Given the description of an element on the screen output the (x, y) to click on. 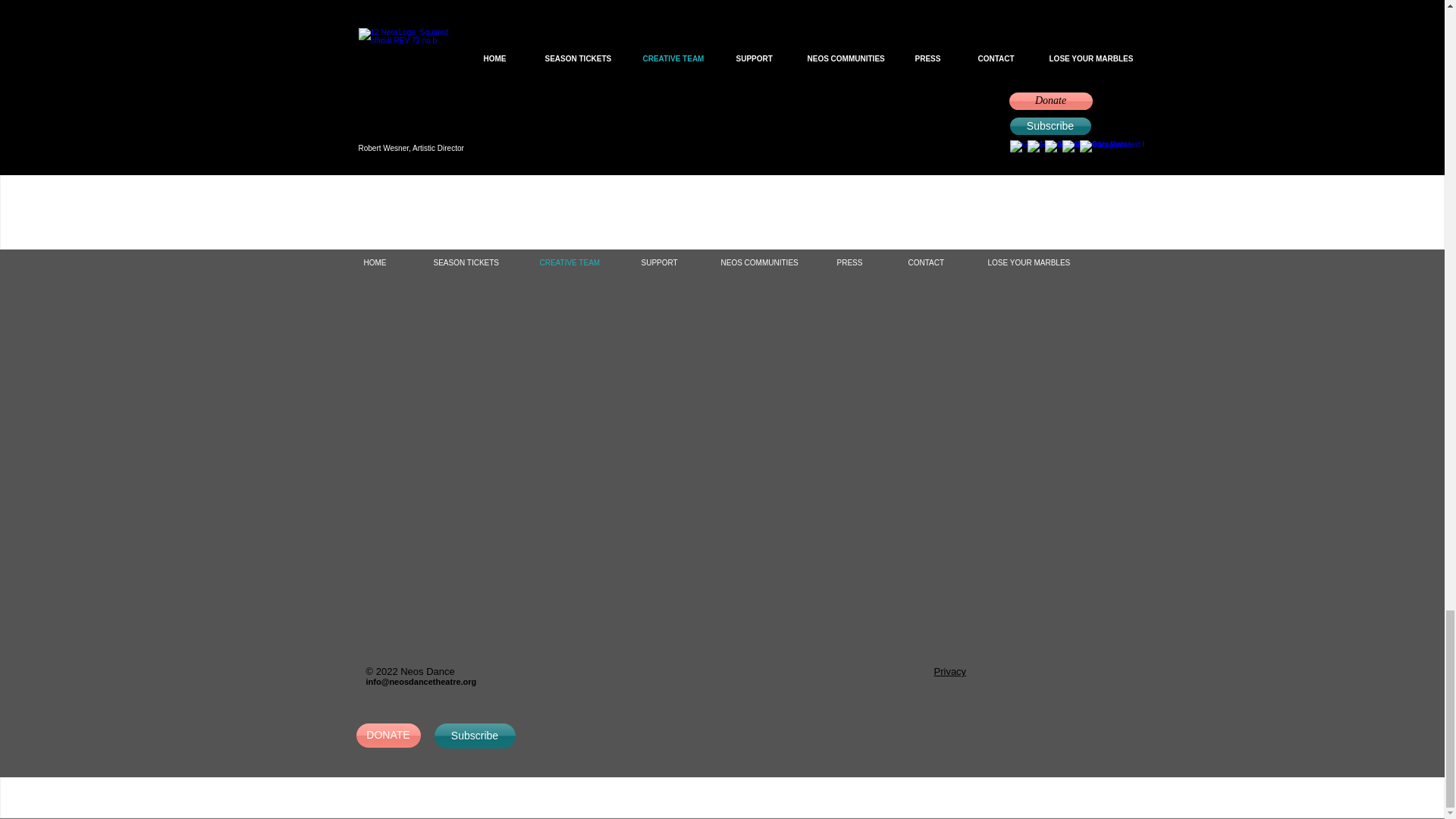
HOME (385, 262)
NEOS COMMUNITIES (765, 262)
SEASON TICKETS (472, 262)
CREATIVE TEAM (576, 262)
SUPPORT (667, 262)
Neos Dance Theatre  (720, 175)
